Given the description of an element on the screen output the (x, y) to click on. 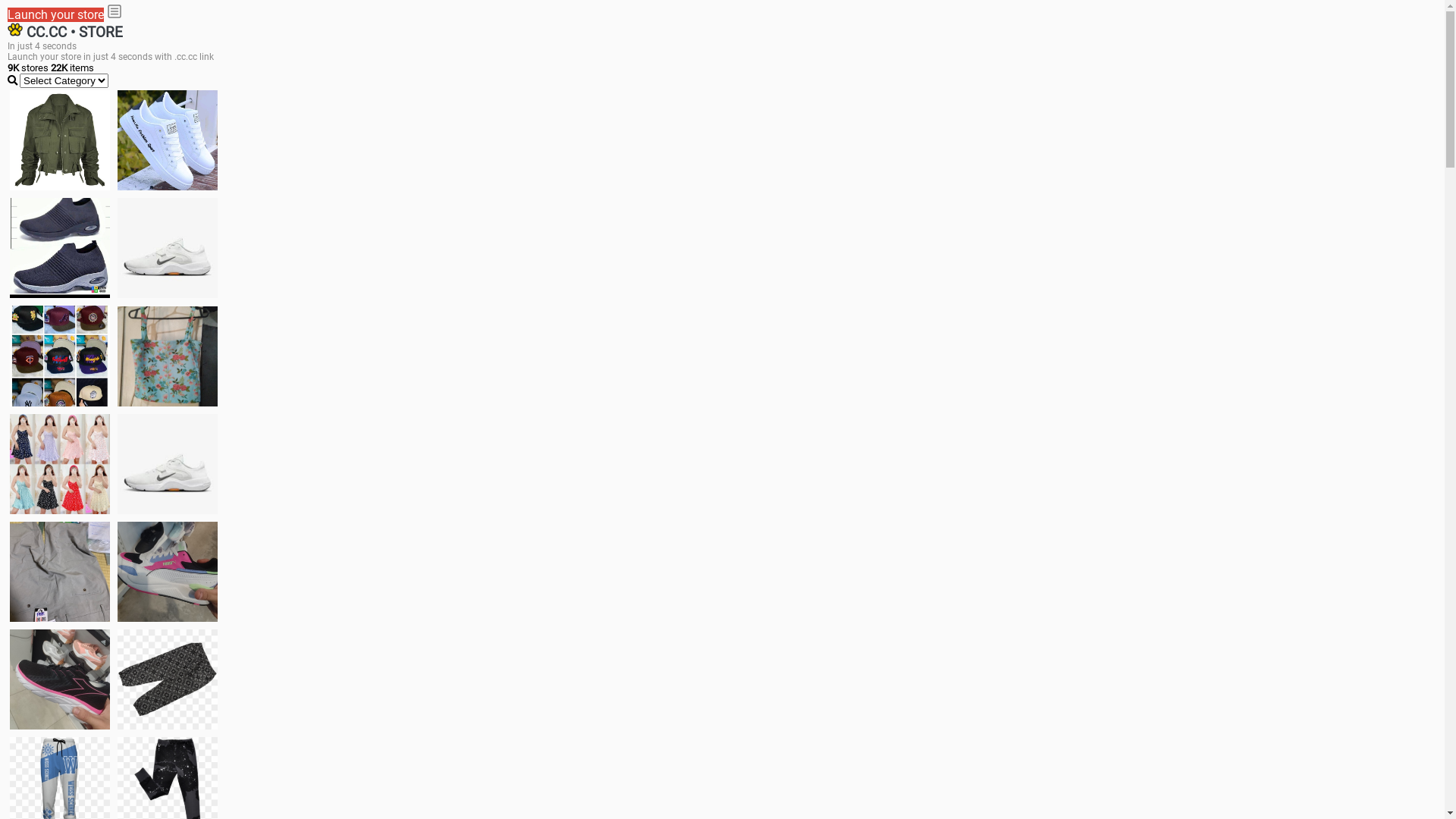
Ukay cloth Element type: hover (167, 356)
Launch your store Element type: text (55, 14)
Short pant Element type: hover (167, 679)
Things we need Element type: hover (59, 355)
shoes for boys Element type: hover (59, 247)
Dress/square nect top Element type: hover (59, 464)
Shoes Element type: hover (167, 464)
Shoes for boys Element type: hover (167, 247)
white shoes Element type: hover (167, 140)
Zapatillas Element type: hover (59, 679)
Zapatillas pumas Element type: hover (167, 571)
jacket Element type: hover (59, 140)
